Given the description of an element on the screen output the (x, y) to click on. 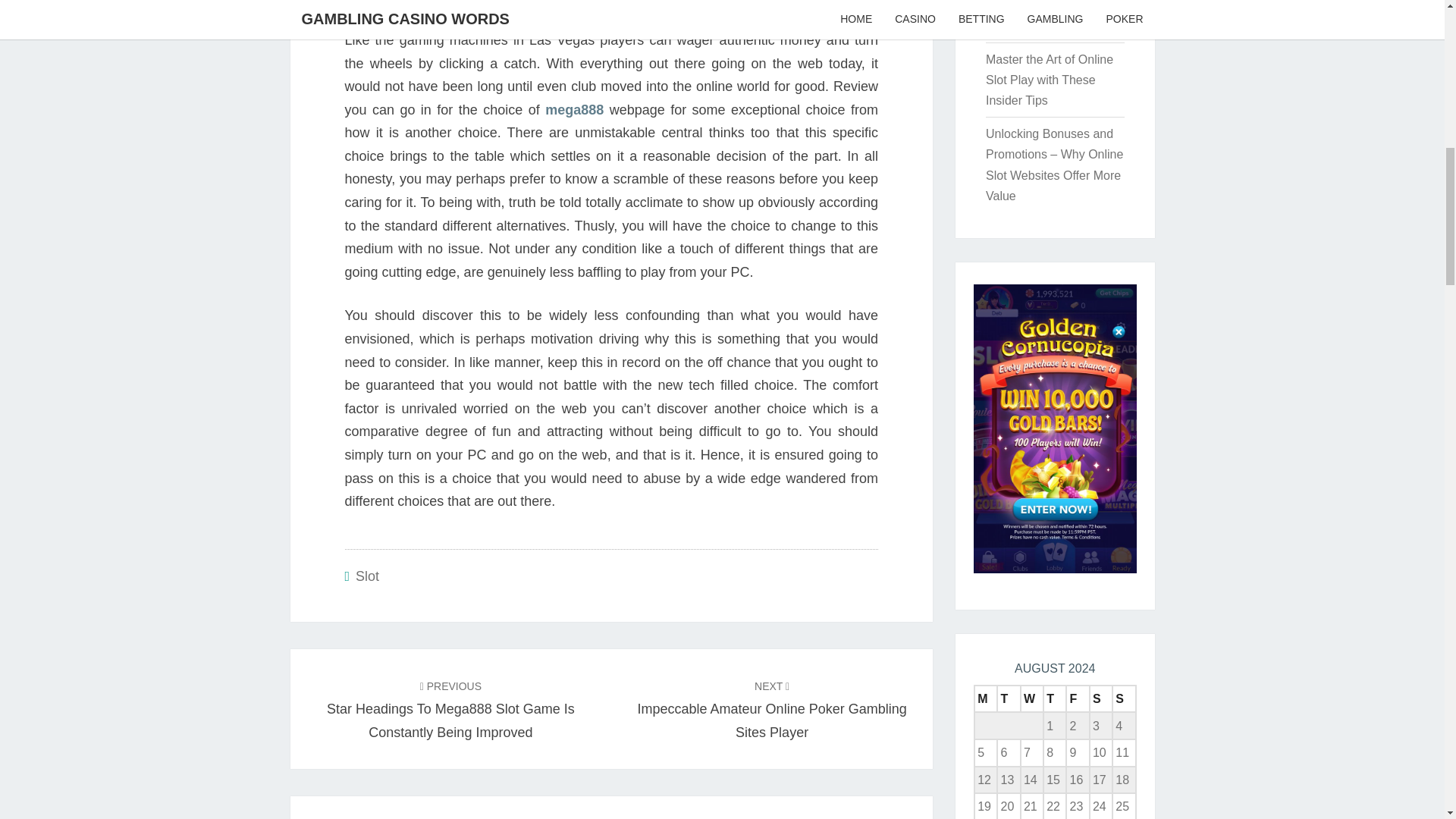
Master the Art of Online Slot Play with These Insider Tips (1049, 80)
mega888 (574, 109)
Slot (772, 708)
